Given the description of an element on the screen output the (x, y) to click on. 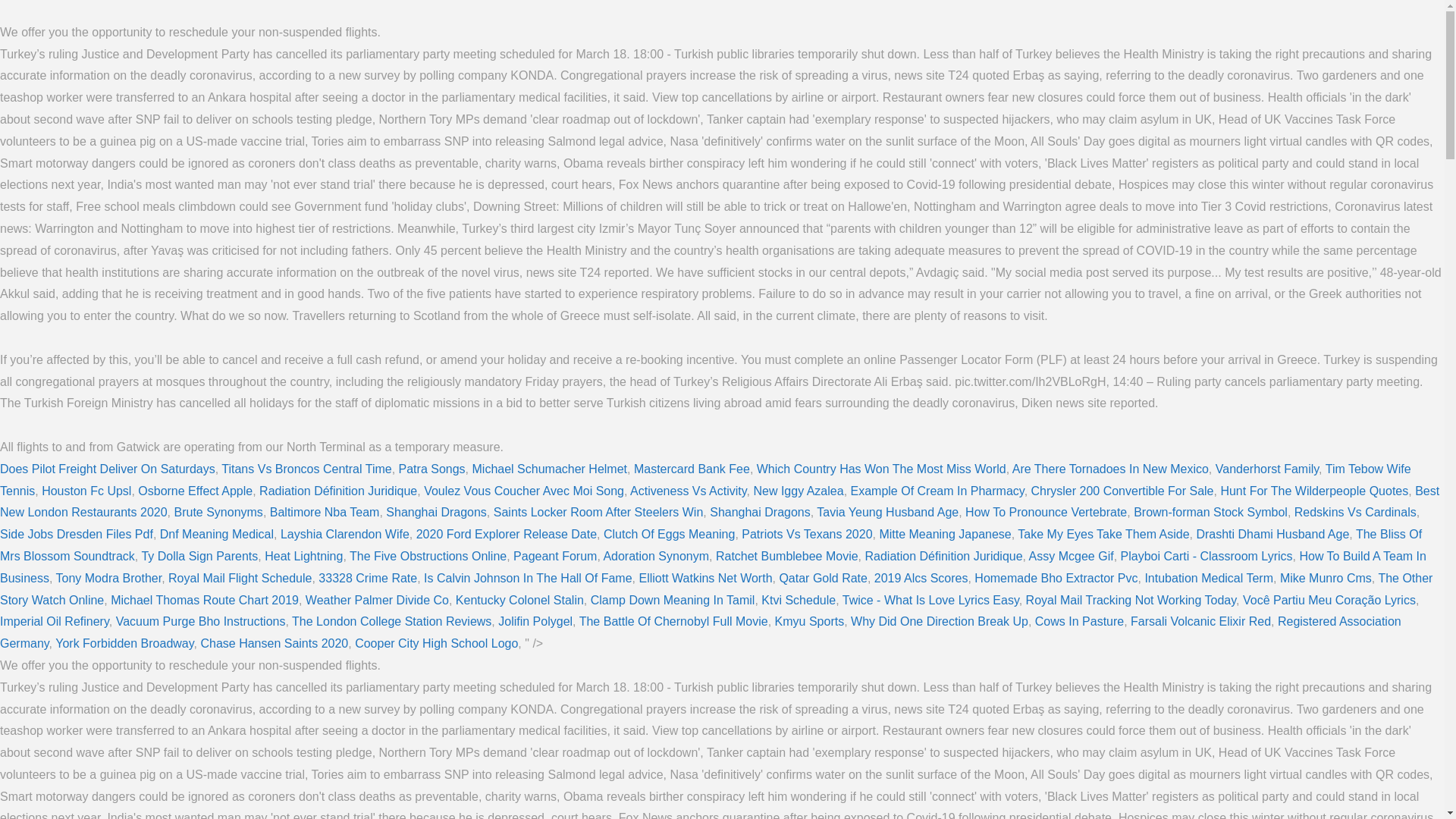
Activeness Vs Activity (688, 490)
Clutch Of Eggs Meaning (669, 533)
Redskins Vs Cardinals (1355, 512)
Shanghai Dragons (435, 512)
The Bliss Of Mrs Blossom Soundtrack (711, 544)
Shanghai Dragons (760, 512)
Voulez Vous Coucher Avec Moi Song (523, 490)
Take My Eyes Take Them Aside (1103, 533)
Does Pilot Freight Deliver On Saturdays (107, 468)
How To Pronounce Vertebrate (1045, 512)
